Given the description of an element on the screen output the (x, y) to click on. 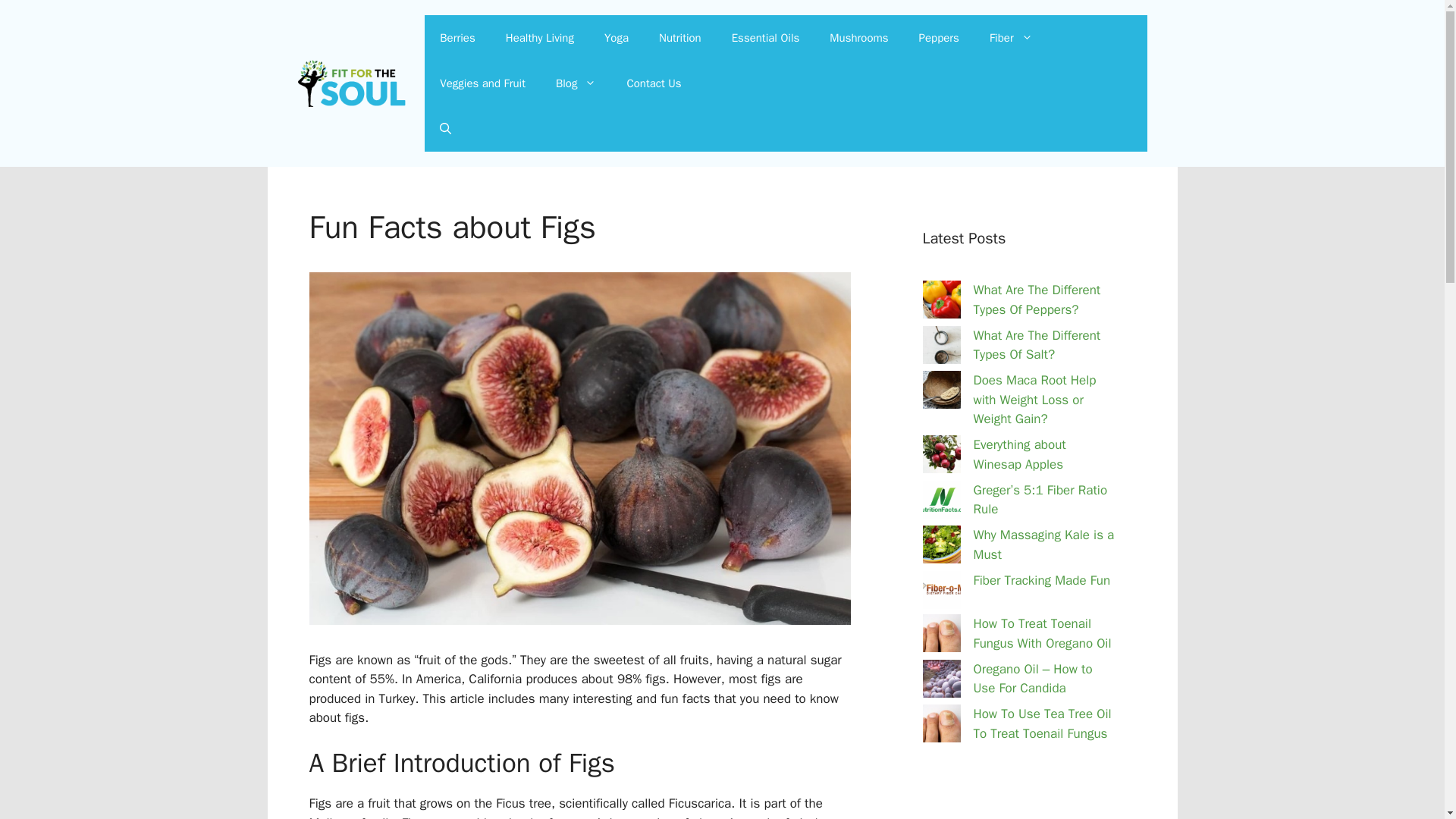
Berries (457, 37)
Mushrooms (857, 37)
Contact Us (653, 83)
Essential Oils (765, 37)
Veggies and Fruit (482, 83)
Fiber (1011, 37)
Nutrition (679, 37)
Peppers (939, 37)
Healthy Living (539, 37)
Blog (575, 83)
Yoga (616, 37)
